Given the description of an element on the screen output the (x, y) to click on. 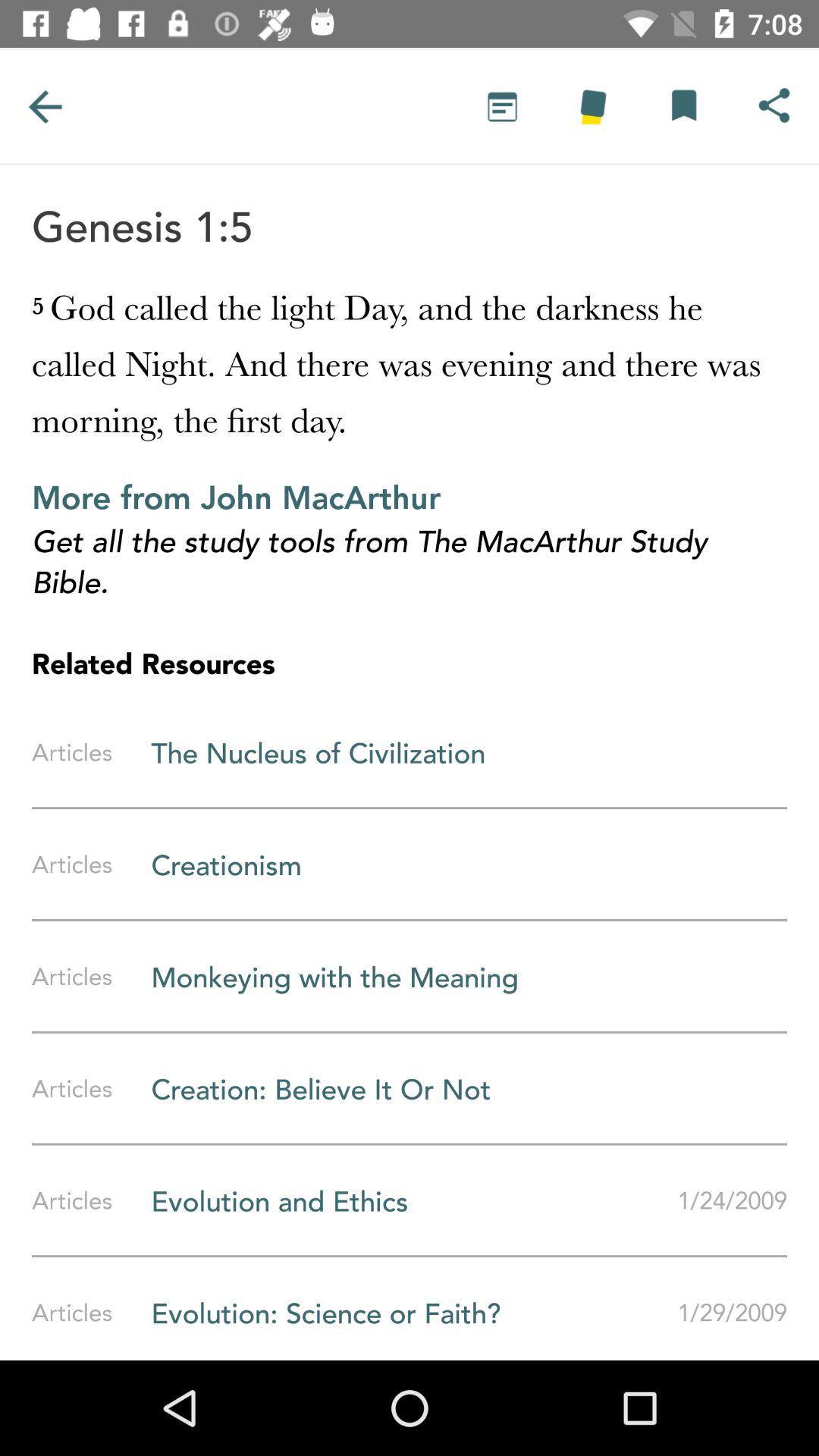
share the article (773, 106)
